Given the description of an element on the screen output the (x, y) to click on. 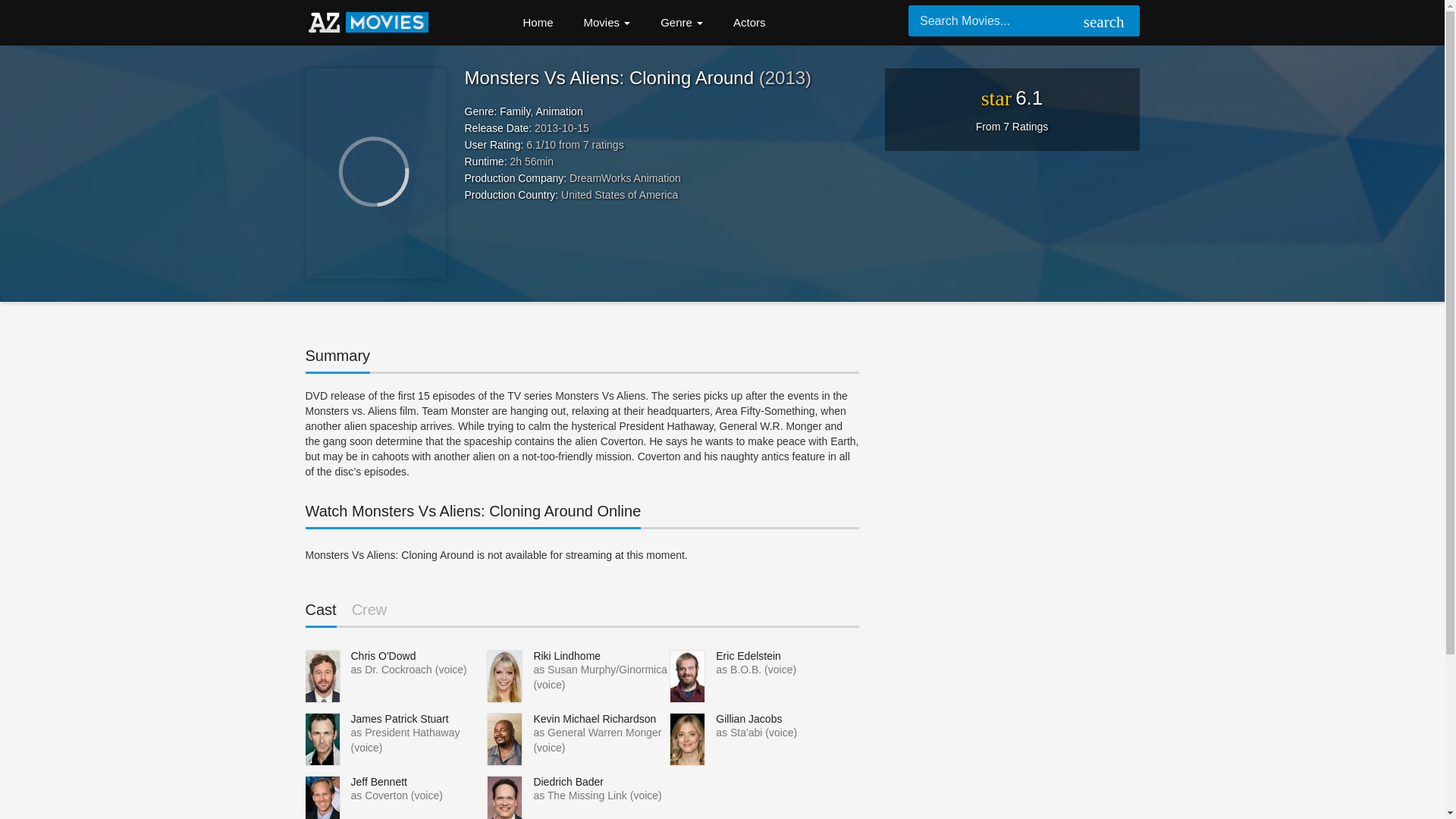
Crew (369, 613)
Genre (681, 22)
Home (538, 22)
Animation (558, 111)
Chris O'Dowd (382, 655)
Cast (320, 614)
Family (514, 111)
Actors (748, 22)
Riki Lindhome (565, 655)
search (1101, 22)
Movies (607, 22)
